Given the description of an element on the screen output the (x, y) to click on. 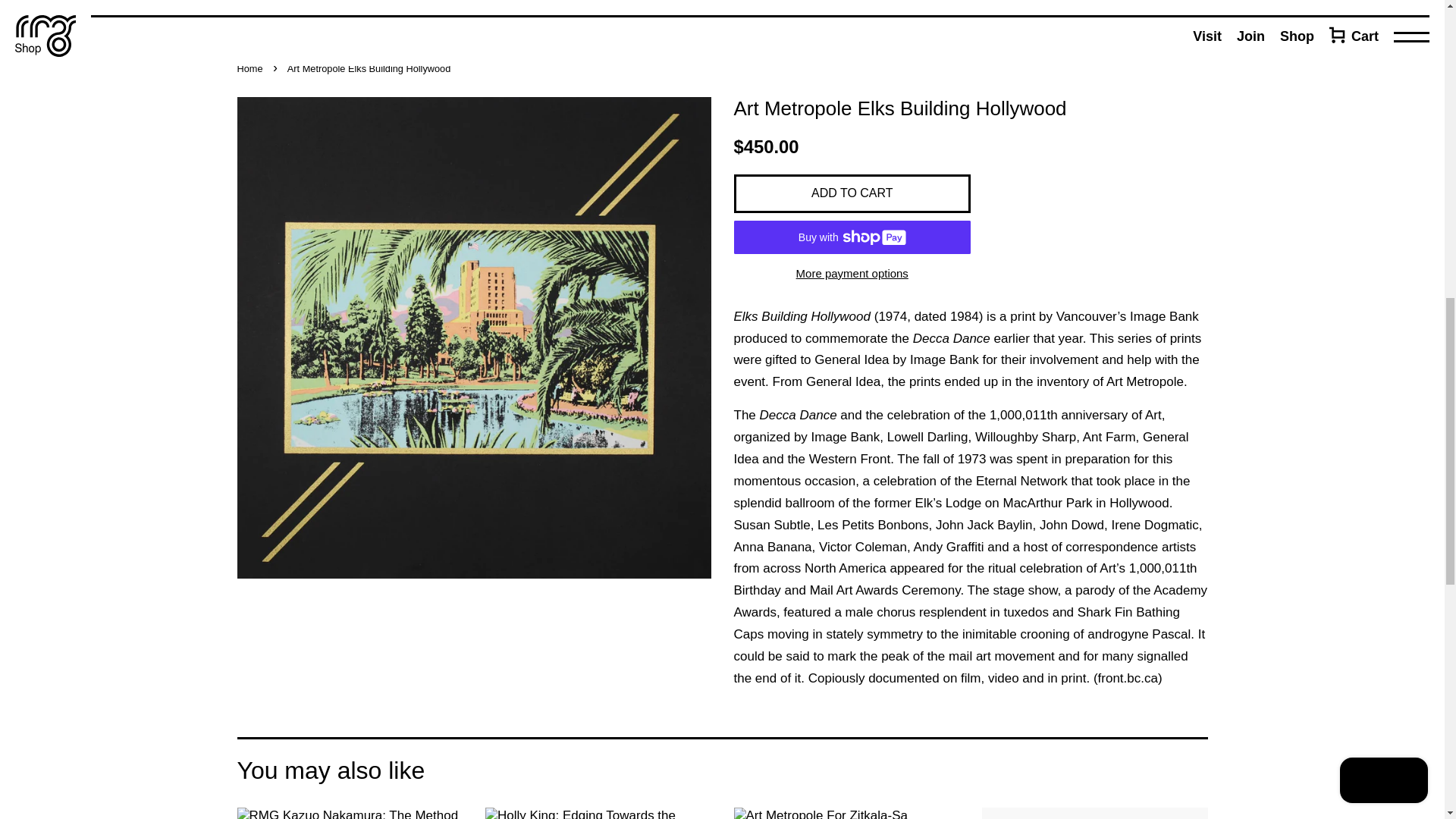
Home (250, 68)
front.bc.ca (1127, 677)
ADD TO CART (852, 193)
Back to the frontpage (250, 68)
More payment options (852, 272)
